Given the description of an element on the screen output the (x, y) to click on. 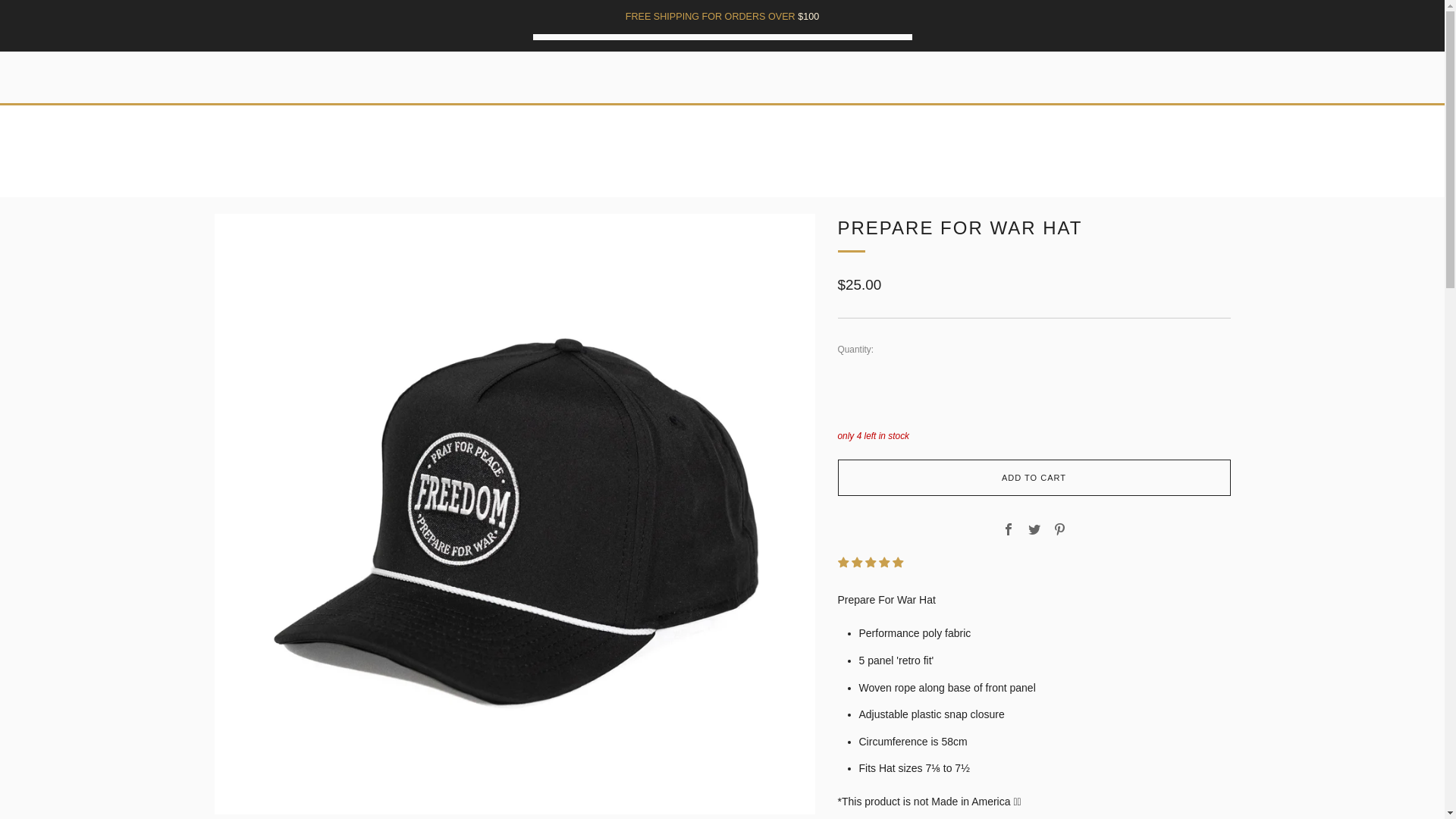
Home (672, 180)
